Given the description of an element on the screen output the (x, y) to click on. 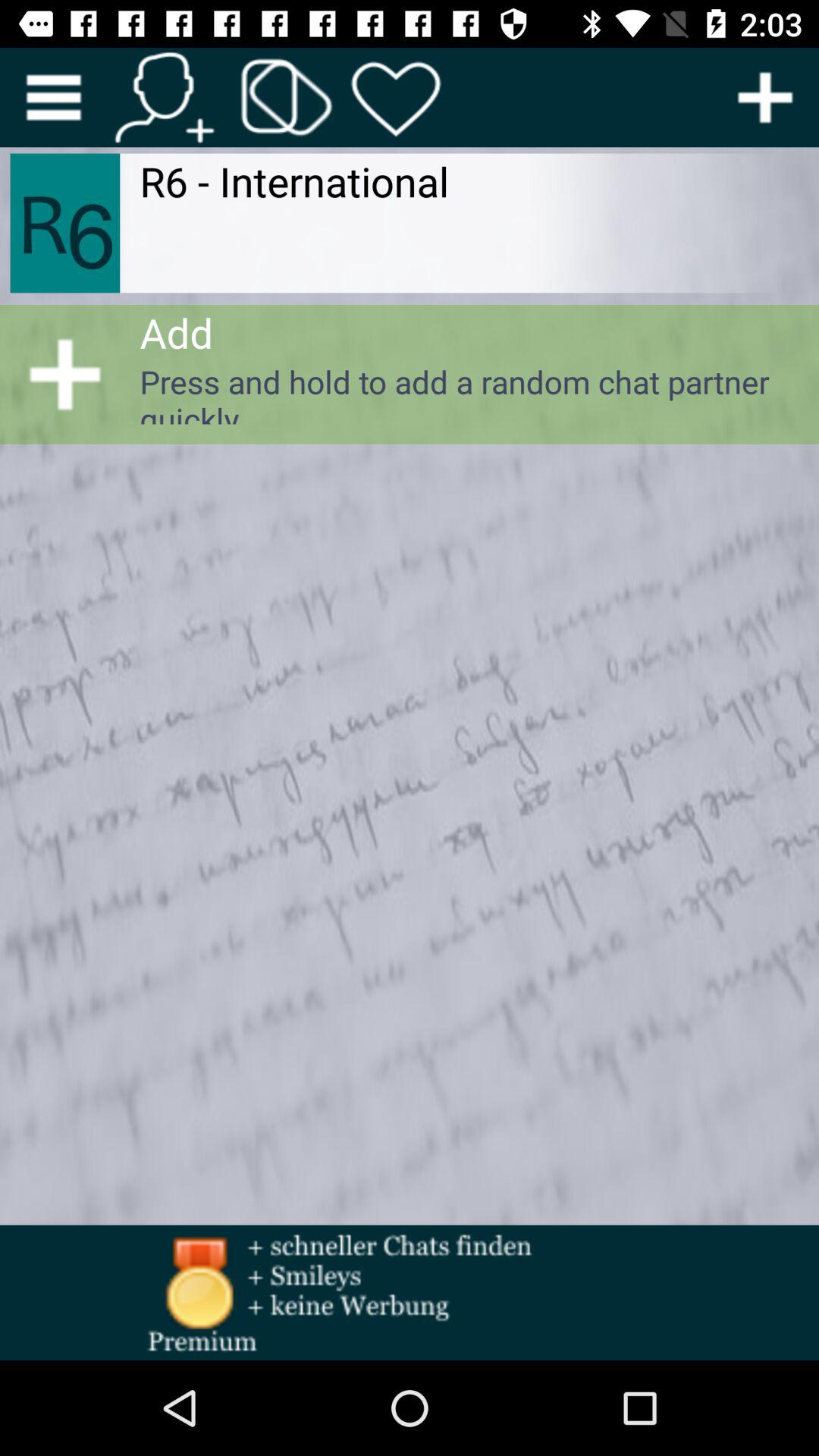
toggle more options (53, 97)
